Given the description of an element on the screen output the (x, y) to click on. 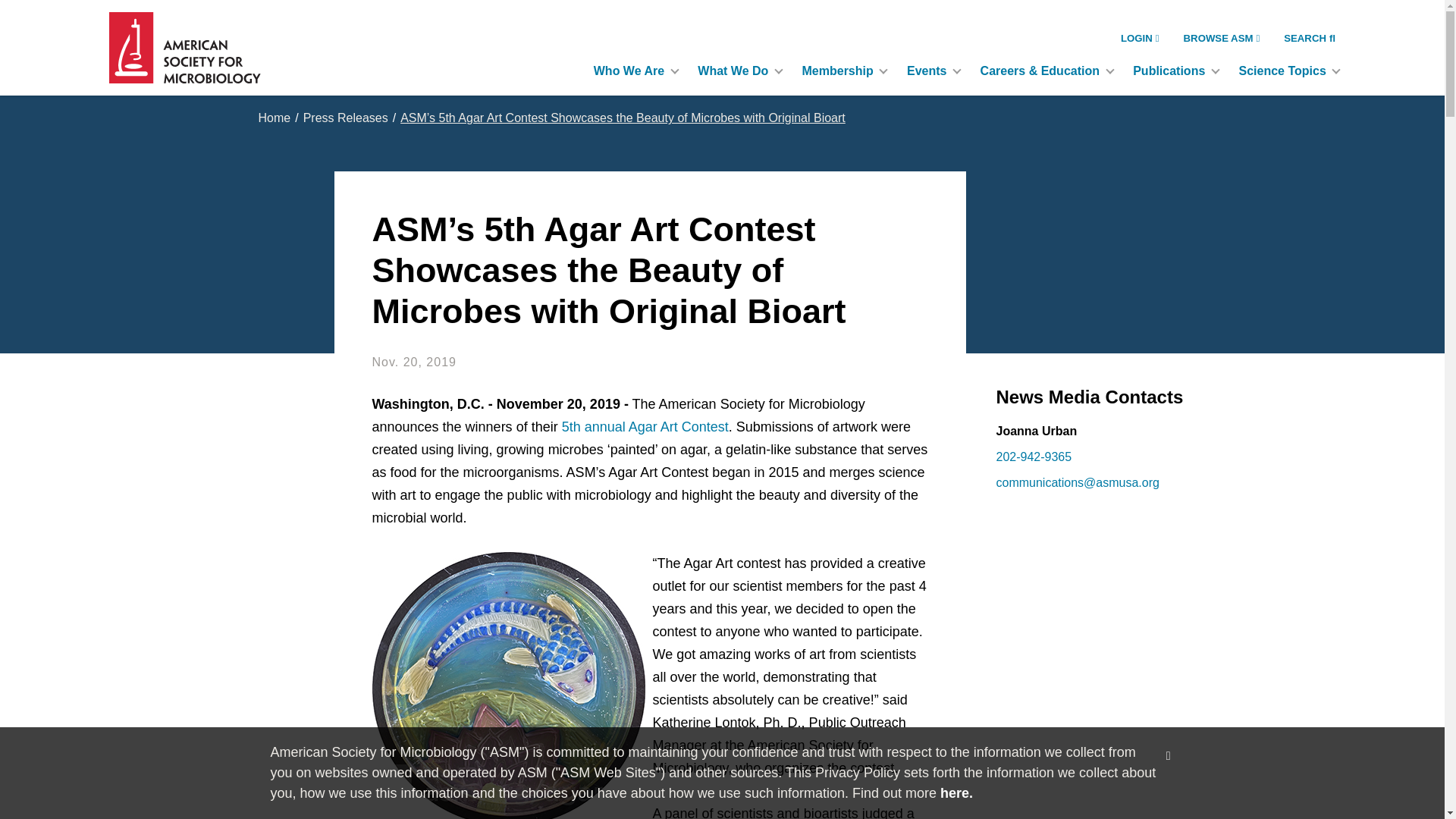
Who We Are (632, 70)
LOGIN (1140, 38)
SEARCH (1309, 38)
BROWSE ASM (1222, 38)
Membership (842, 70)
What We Do (737, 70)
Events (931, 70)
